Given the description of an element on the screen output the (x, y) to click on. 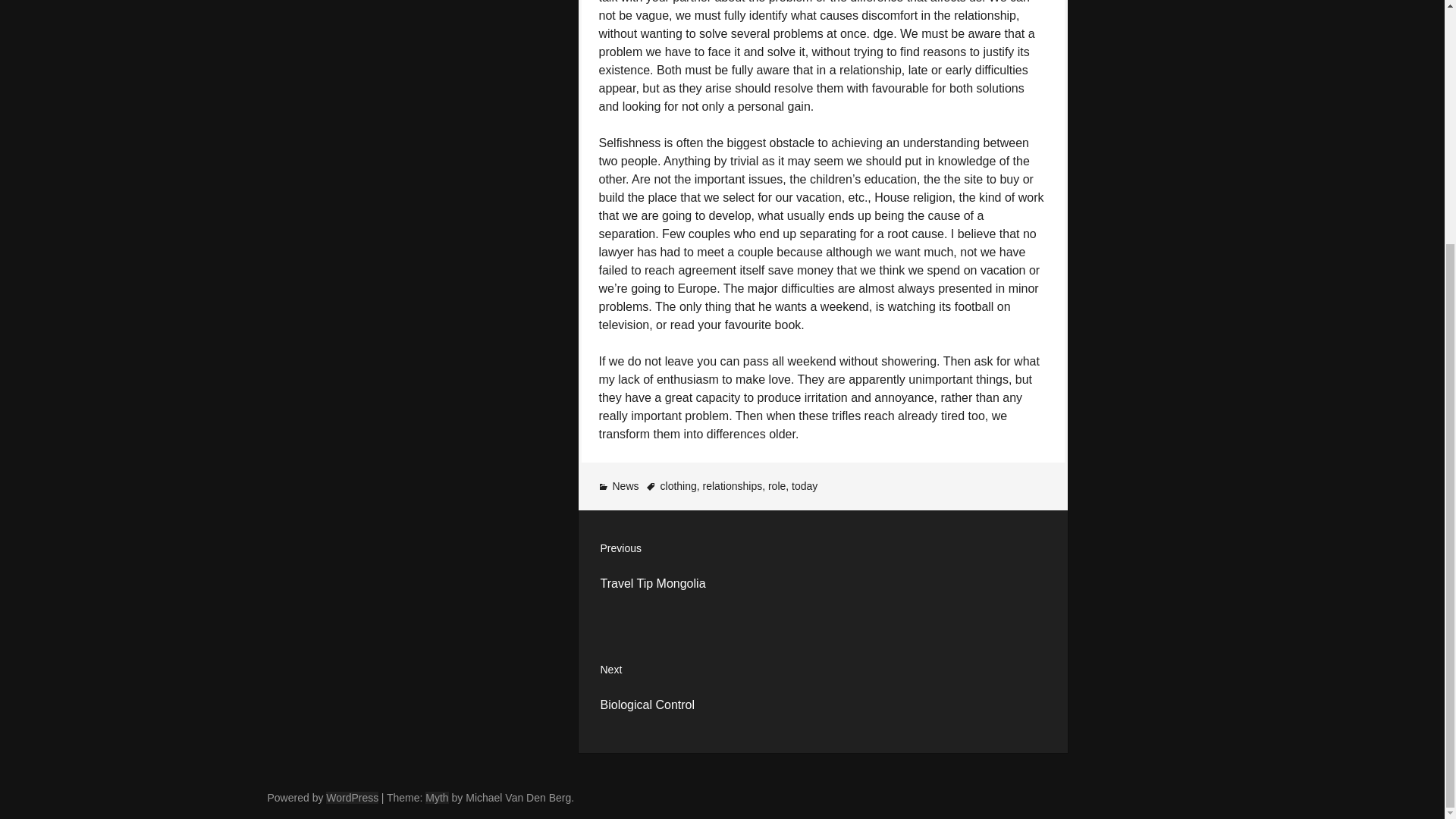
Myth (436, 797)
WordPress (352, 797)
role (822, 691)
clothing (777, 485)
News (822, 570)
today (679, 485)
relationships (625, 485)
